Given the description of an element on the screen output the (x, y) to click on. 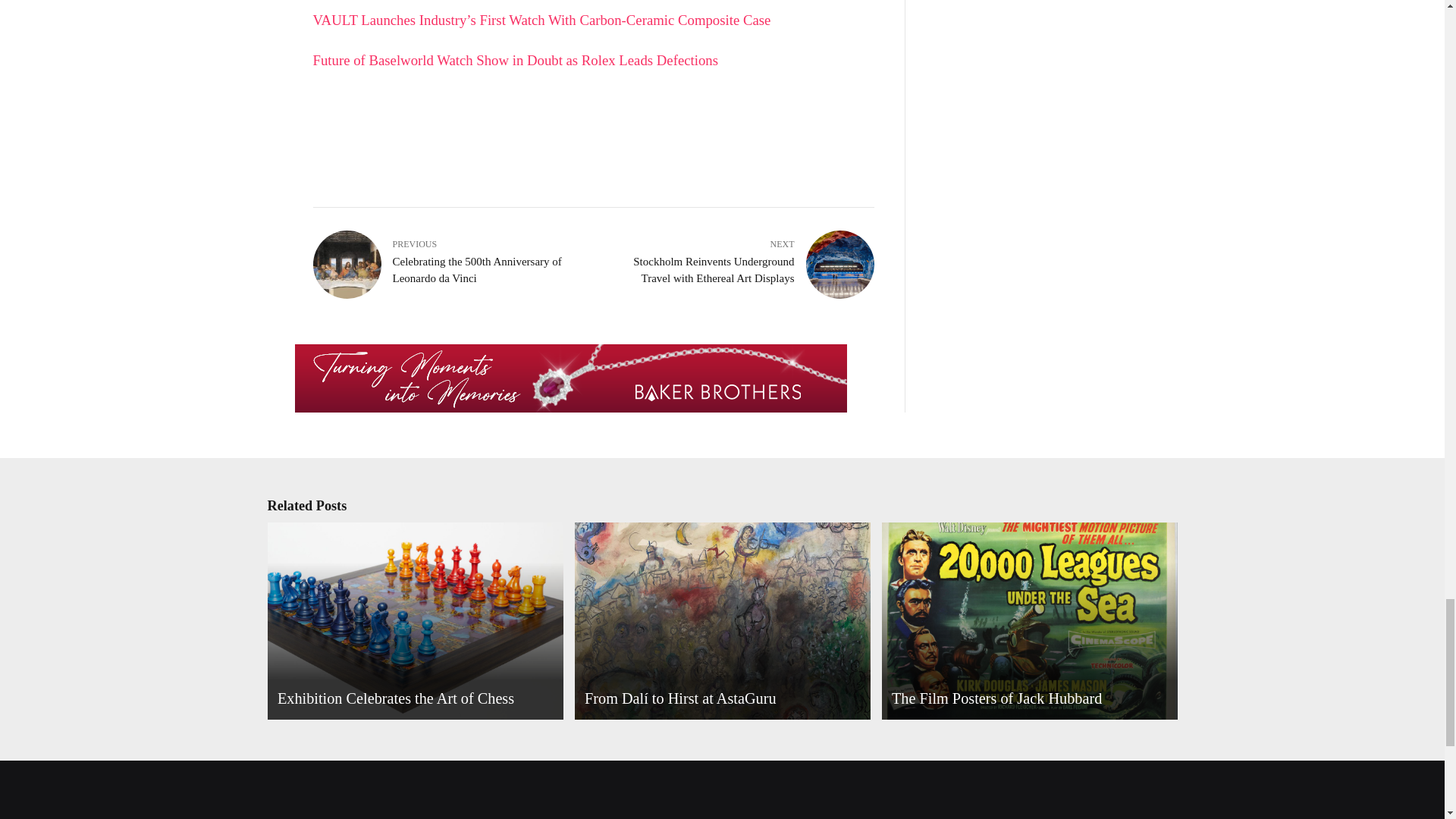
The Film Posters of Jack Hubbard (1026, 622)
The Film Posters of Jack Hubbard (1026, 620)
Exhibition Celebrates the Art of Chess (412, 622)
Exhibition Celebrates the Art of Chess (412, 620)
Exhibition Celebrates the Art of Chess (395, 698)
